Given the description of an element on the screen output the (x, y) to click on. 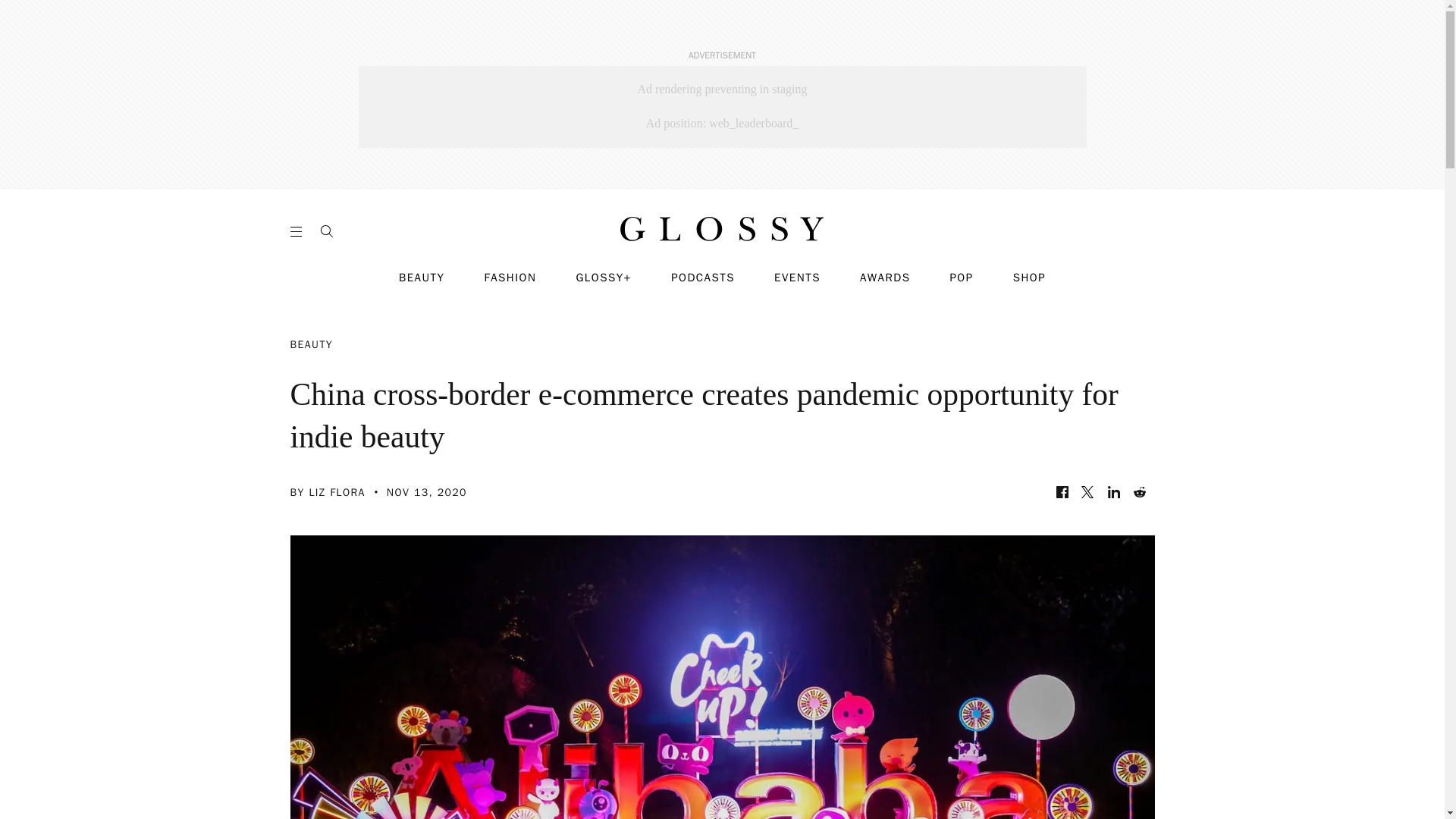
PODCASTS (703, 277)
BEAUTY (421, 277)
POP (960, 277)
SHOP (1029, 277)
EVENTS (797, 277)
FASHION (509, 277)
AWARDS (885, 277)
